Given the description of an element on the screen output the (x, y) to click on. 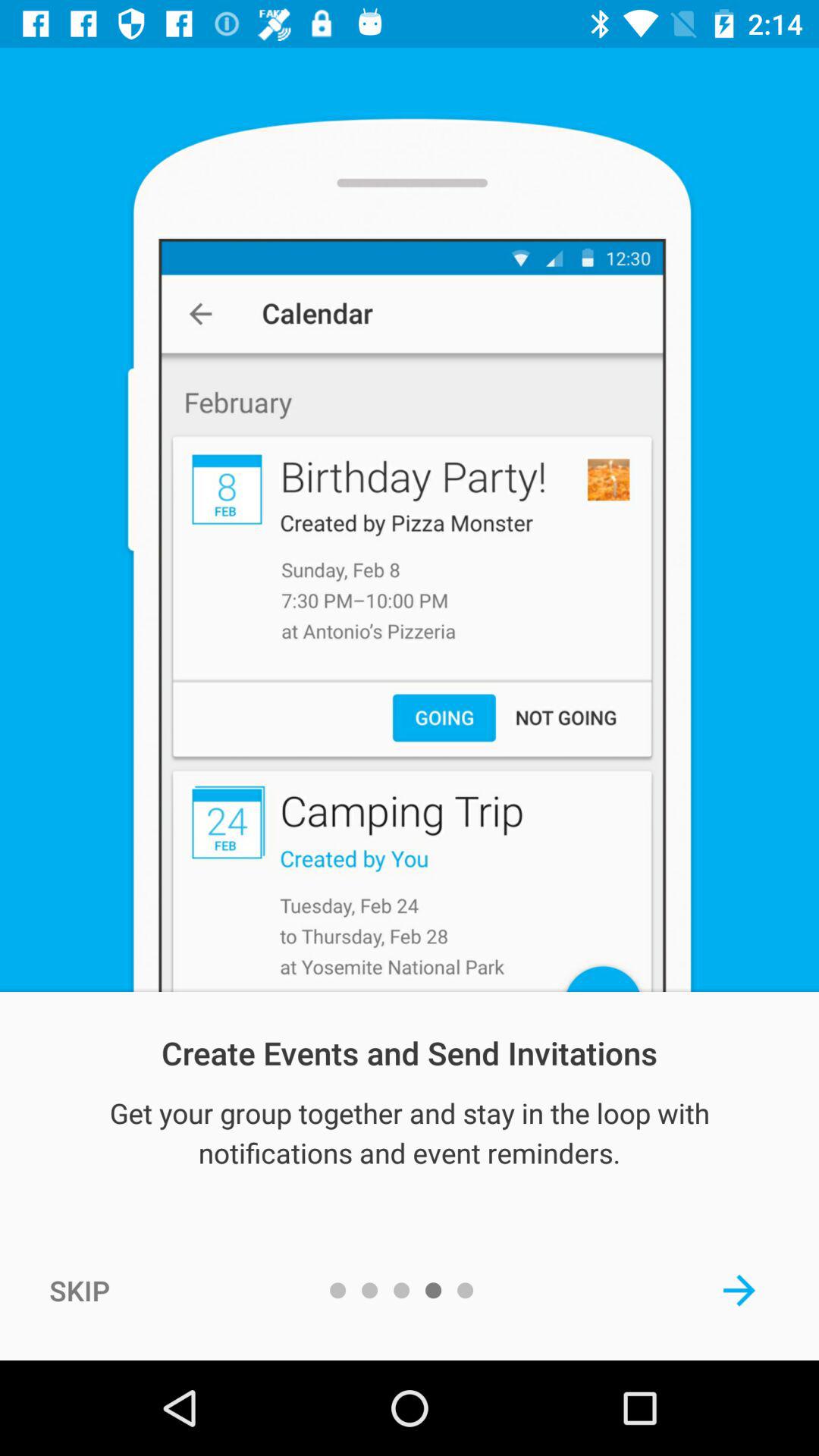
go next (739, 1290)
